Given the description of an element on the screen output the (x, y) to click on. 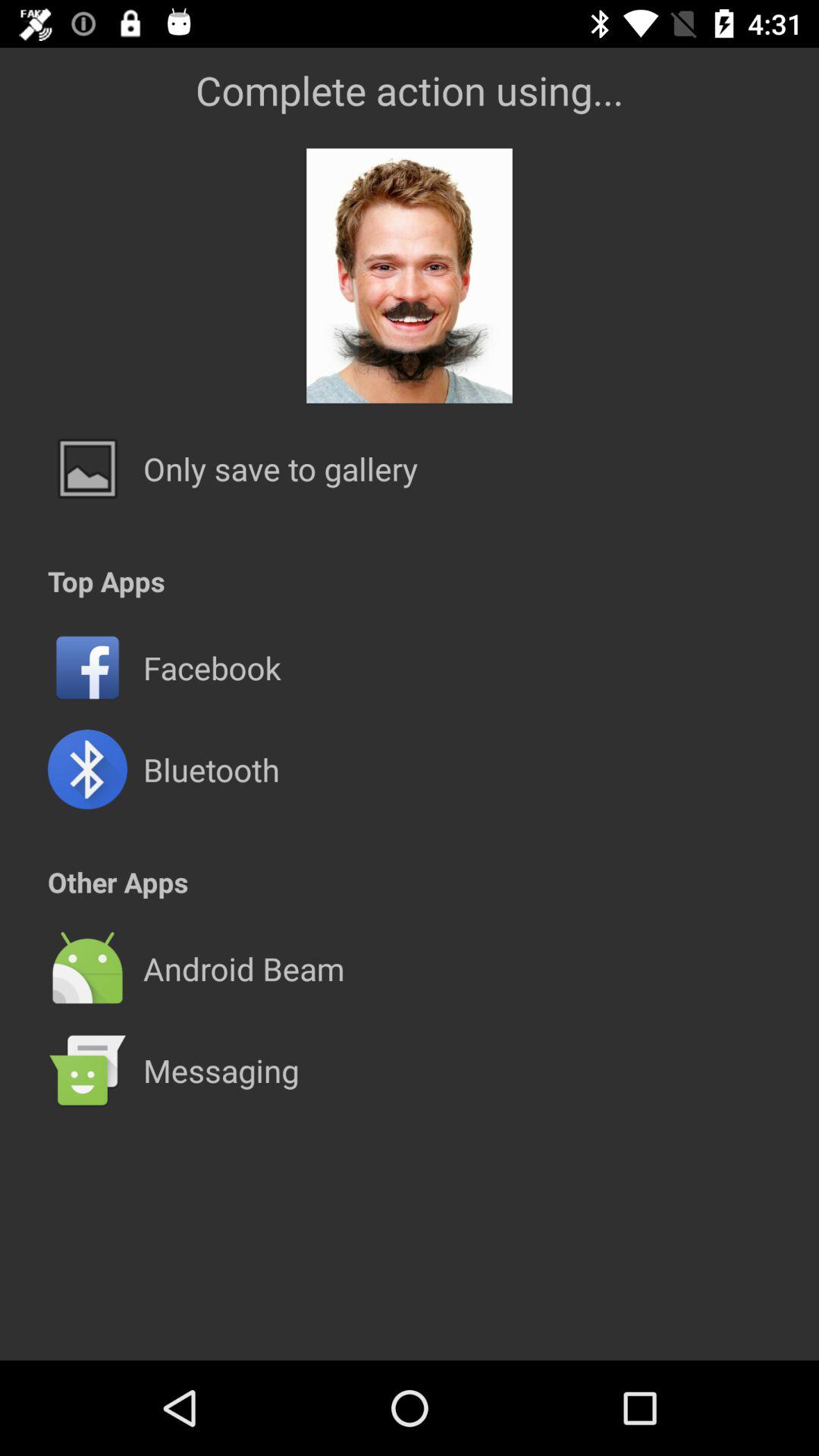
turn off the only save to (280, 468)
